Given the description of an element on the screen output the (x, y) to click on. 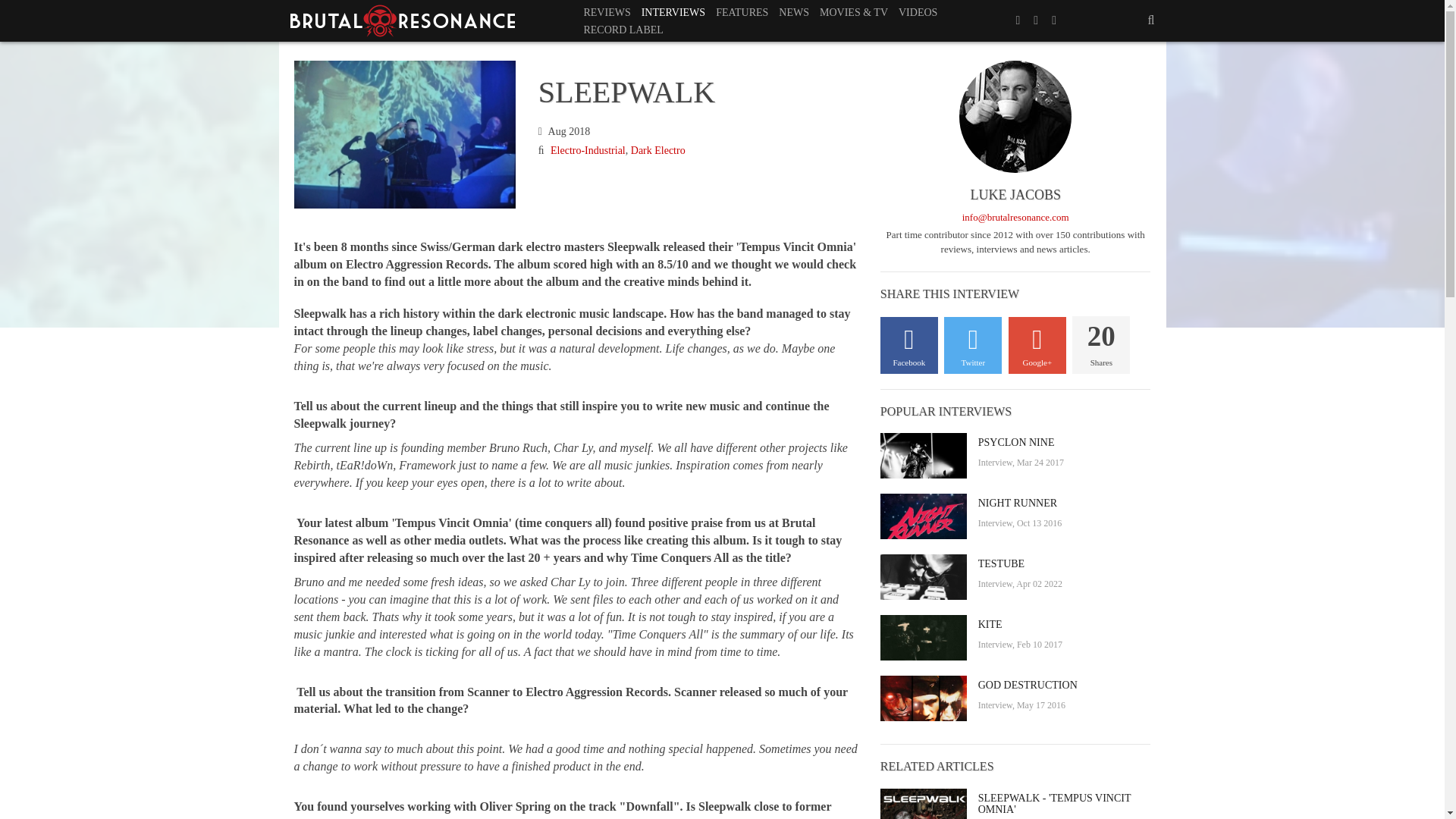
Share on Facebook (908, 344)
VIDEOS (917, 12)
RECORD LABEL (623, 29)
NEWS (793, 12)
PSYCLON NINE (1064, 441)
INTERVIEWS (673, 12)
Dark Electro (657, 150)
FEATURES (741, 12)
Electro-Industrial (588, 150)
REVIEWS (606, 12)
Share on Google Plus (1037, 344)
Share on Twitter (972, 344)
